Given the description of an element on the screen output the (x, y) to click on. 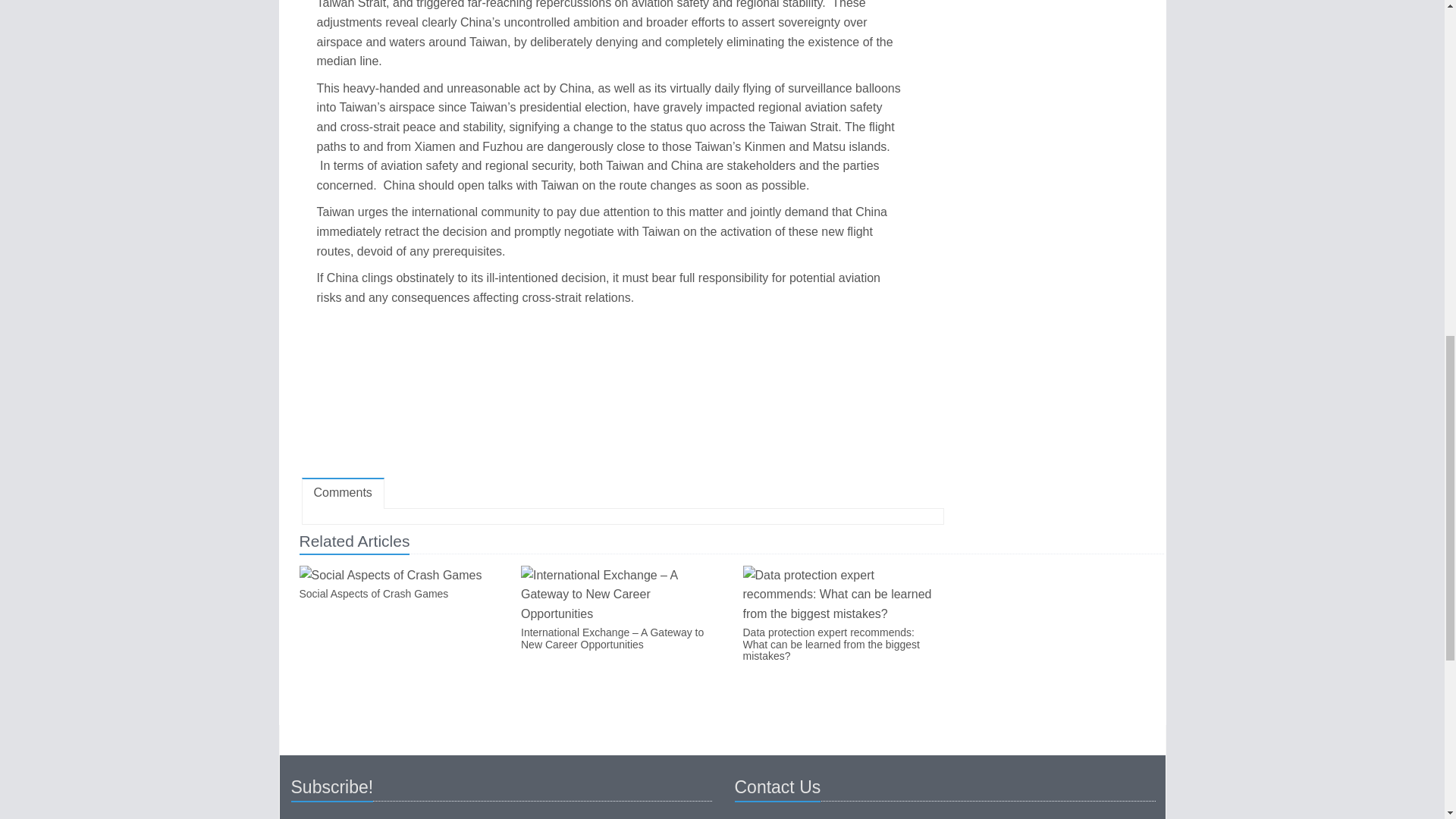
Social Aspects of Crash Games (397, 593)
Comments (342, 492)
